Given the description of an element on the screen output the (x, y) to click on. 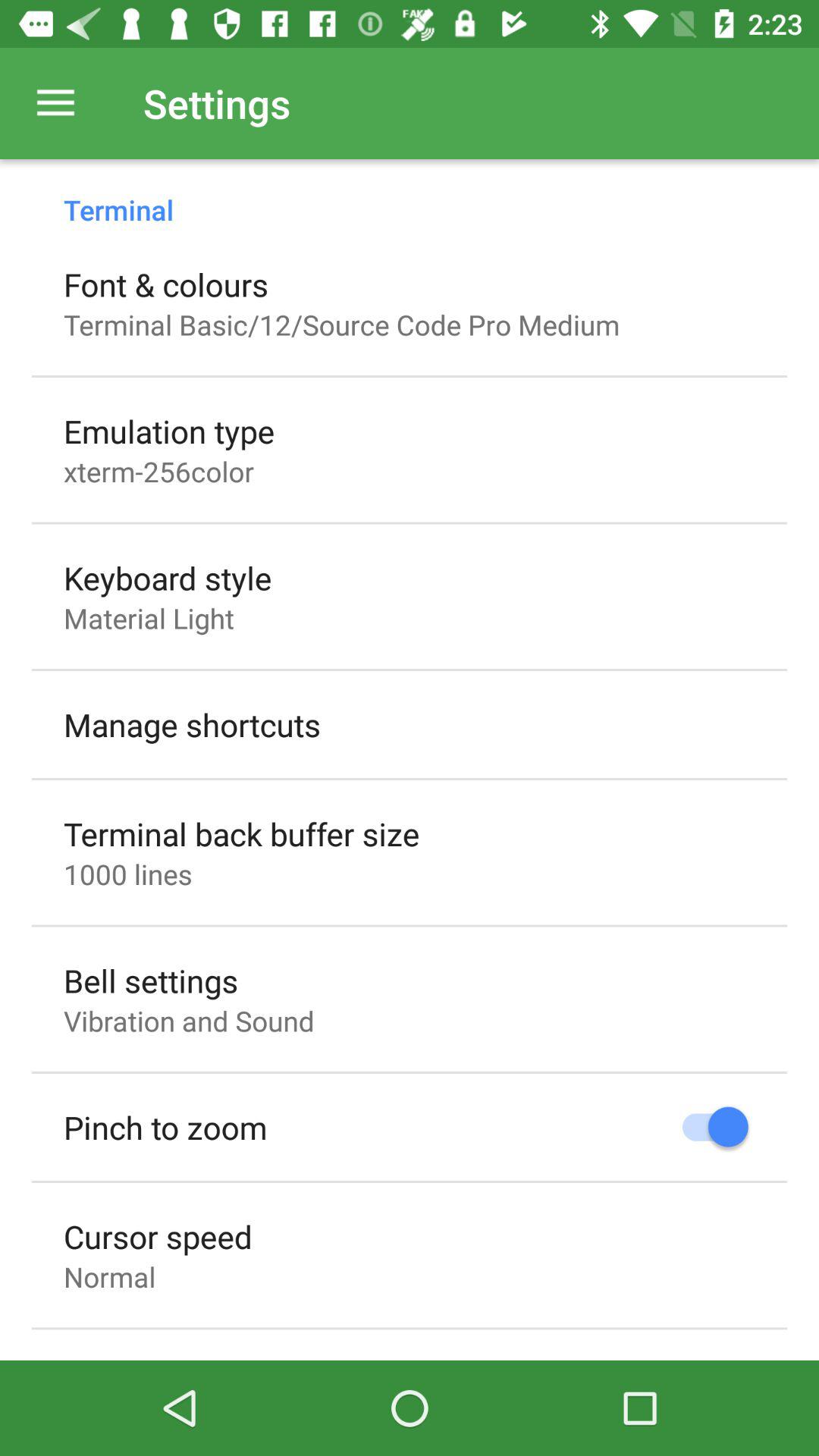
open item below xterm-256color icon (167, 577)
